Given the description of an element on the screen output the (x, y) to click on. 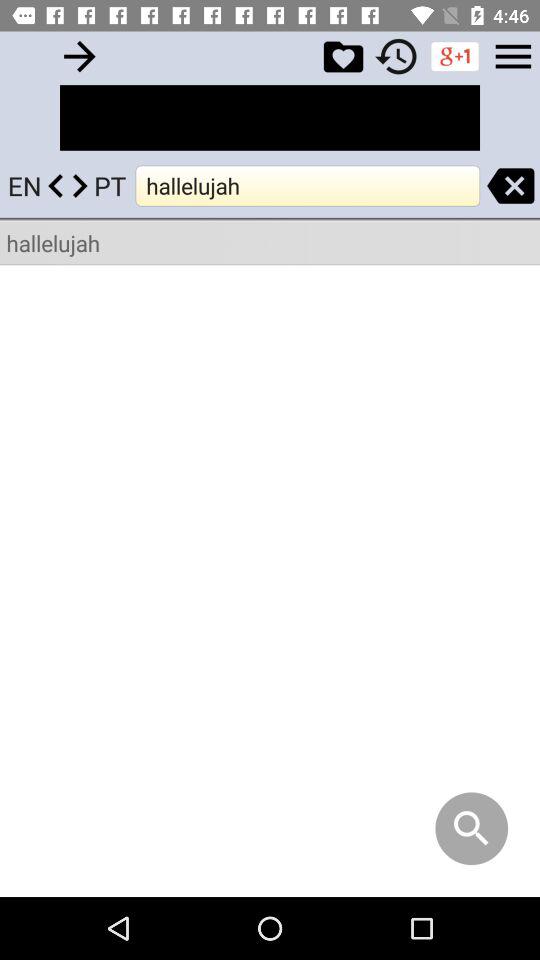
clear the field (510, 185)
